Given the description of an element on the screen output the (x, y) to click on. 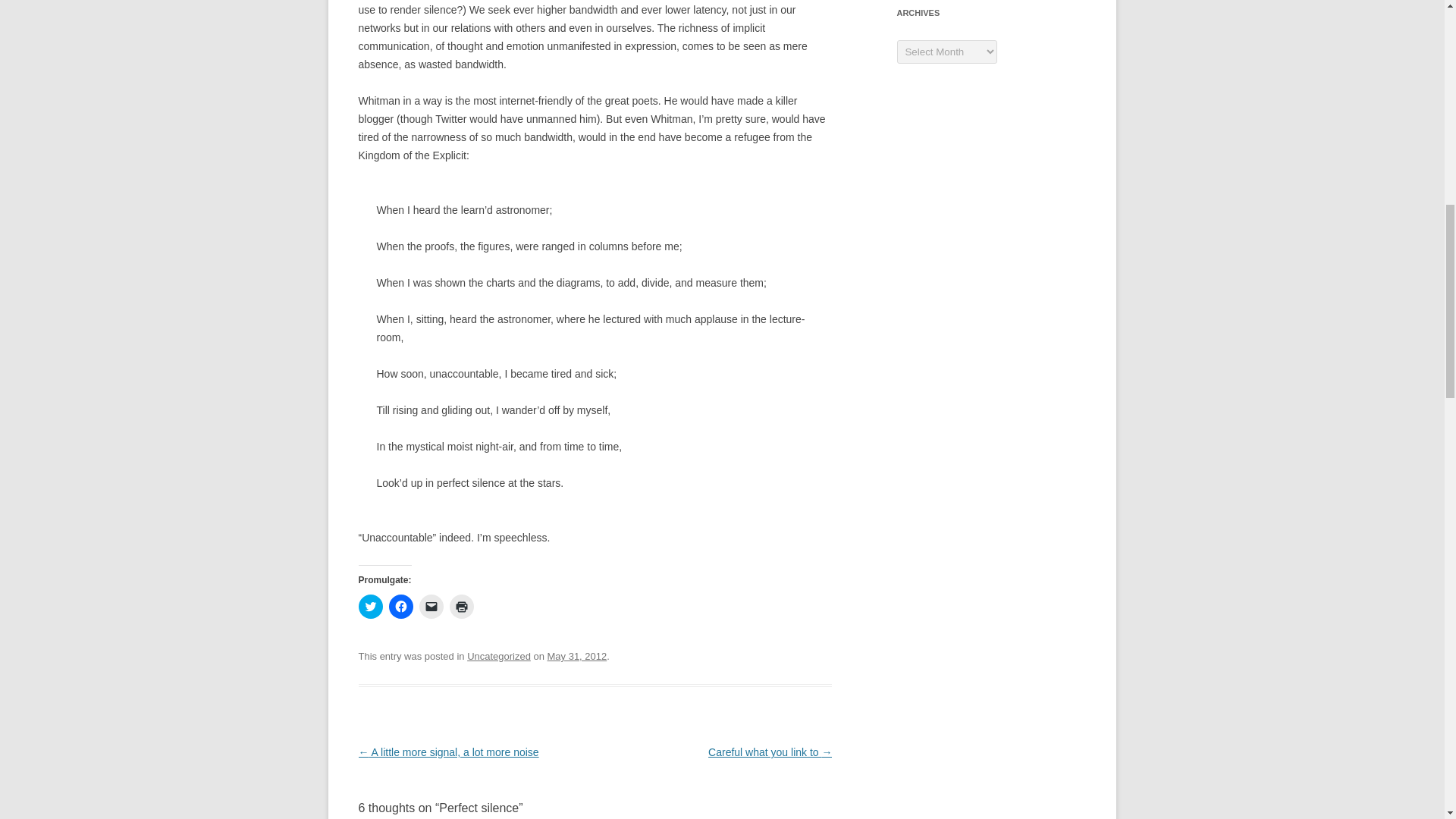
1:37 pm (577, 655)
Uncategorized (499, 655)
Click to email a link to a friend (430, 606)
May 31, 2012 (577, 655)
Click to print (460, 606)
Click to share on Facebook (400, 606)
Click to share on Twitter (369, 606)
